Given the description of an element on the screen output the (x, y) to click on. 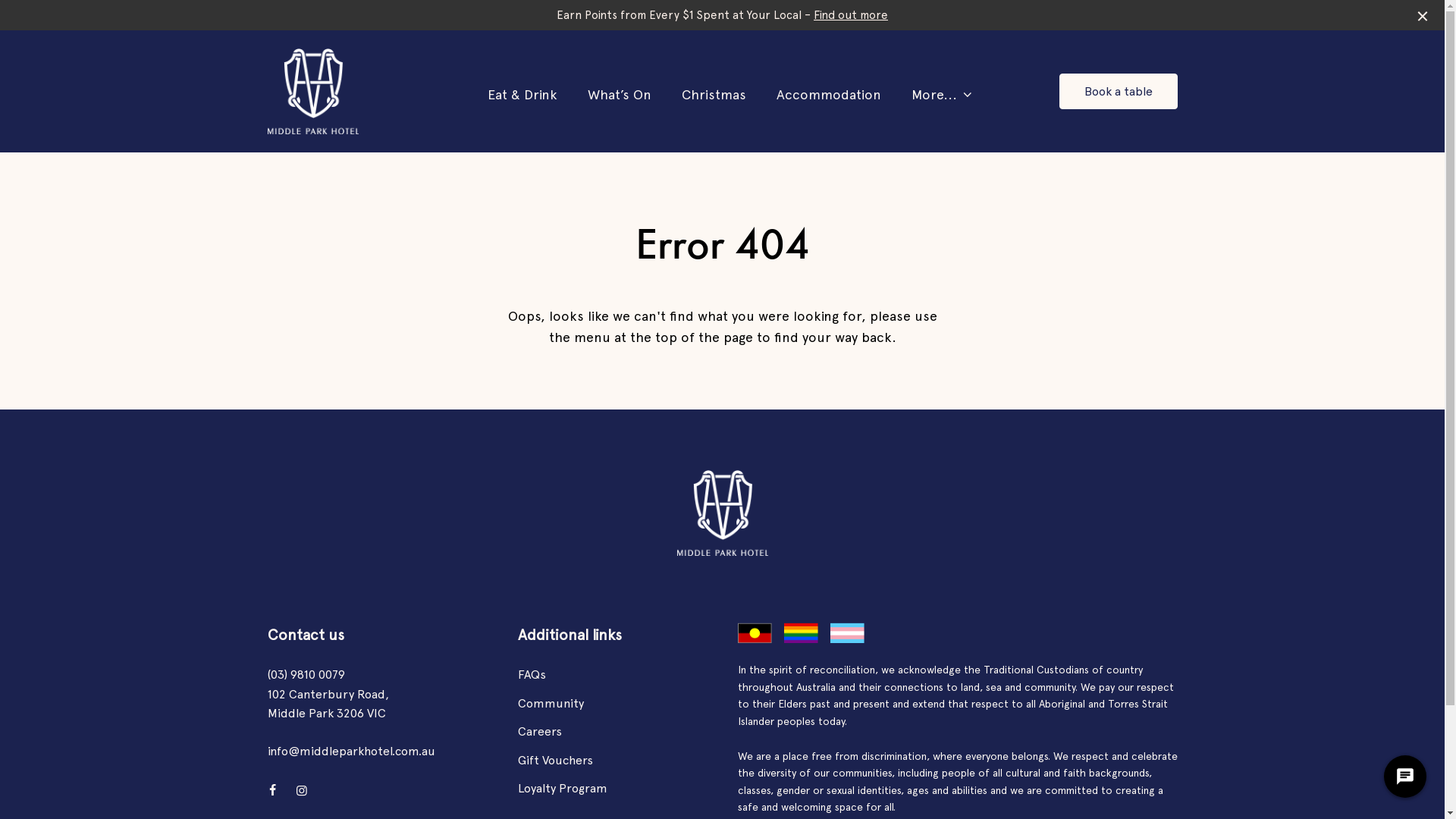
(03) 9810 0079 Element type: text (305, 674)
Gift Vouchers Element type: text (554, 760)
Careers Element type: text (539, 731)
More... Element type: text (934, 94)
Loyalty Program Element type: text (561, 788)
Book a table Element type: text (1117, 91)
Accommodation Element type: text (828, 94)
Genesys Messenger Launcher Element type: hover (1404, 779)
Eat & Drink Element type: text (522, 94)
info@middleparkhotel.com.au Element type: text (350, 751)
Community Element type: text (550, 703)
Find out more Element type: text (850, 14)
FAQs Element type: text (531, 674)
102 Canterbury Road,
Middle Park 3206 VIC Element type: text (327, 703)
Christmas Element type: text (713, 94)
